Given the description of an element on the screen output the (x, y) to click on. 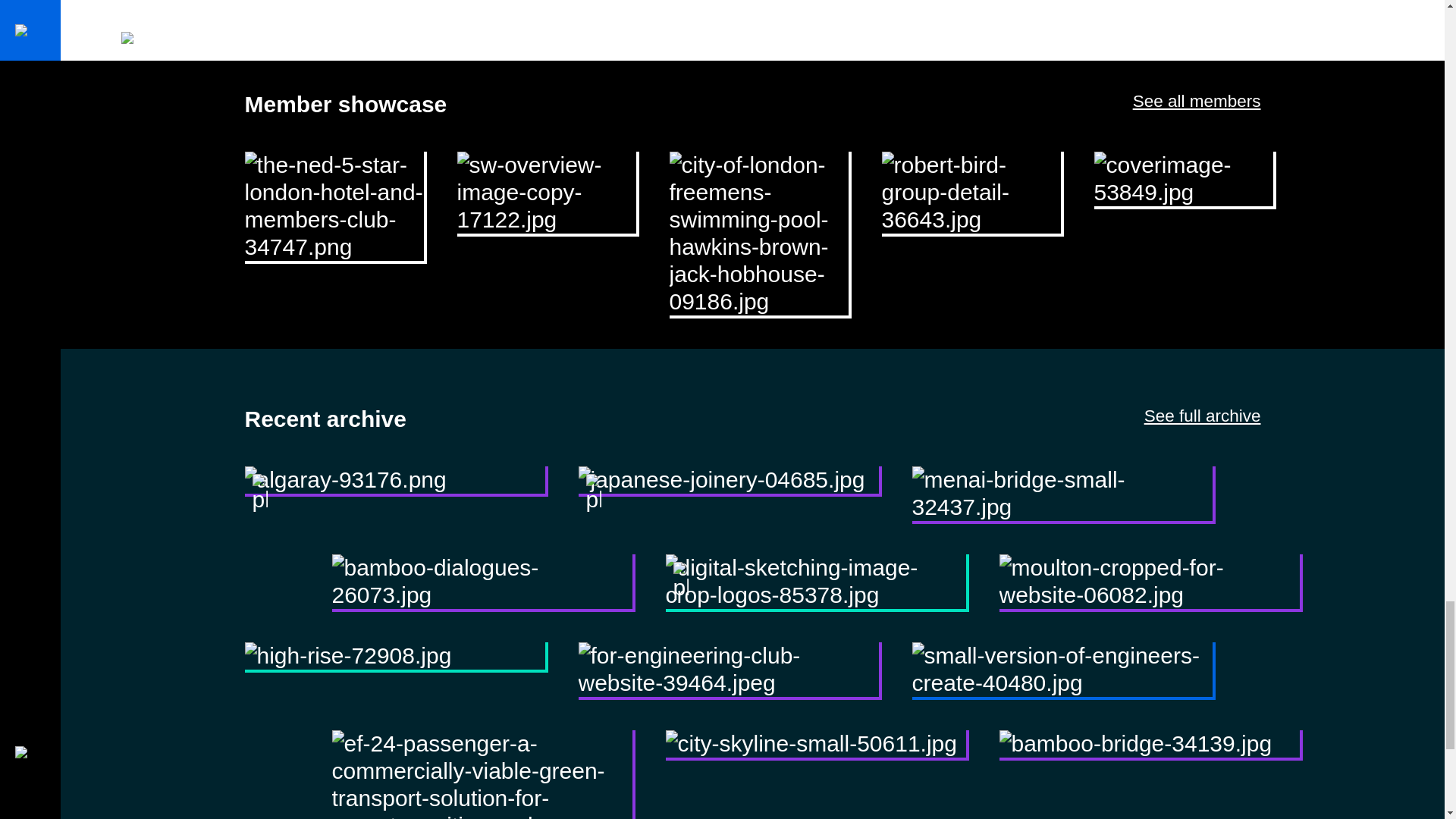
See full archive (1202, 415)
See all members (1196, 100)
